Given the description of an element on the screen output the (x, y) to click on. 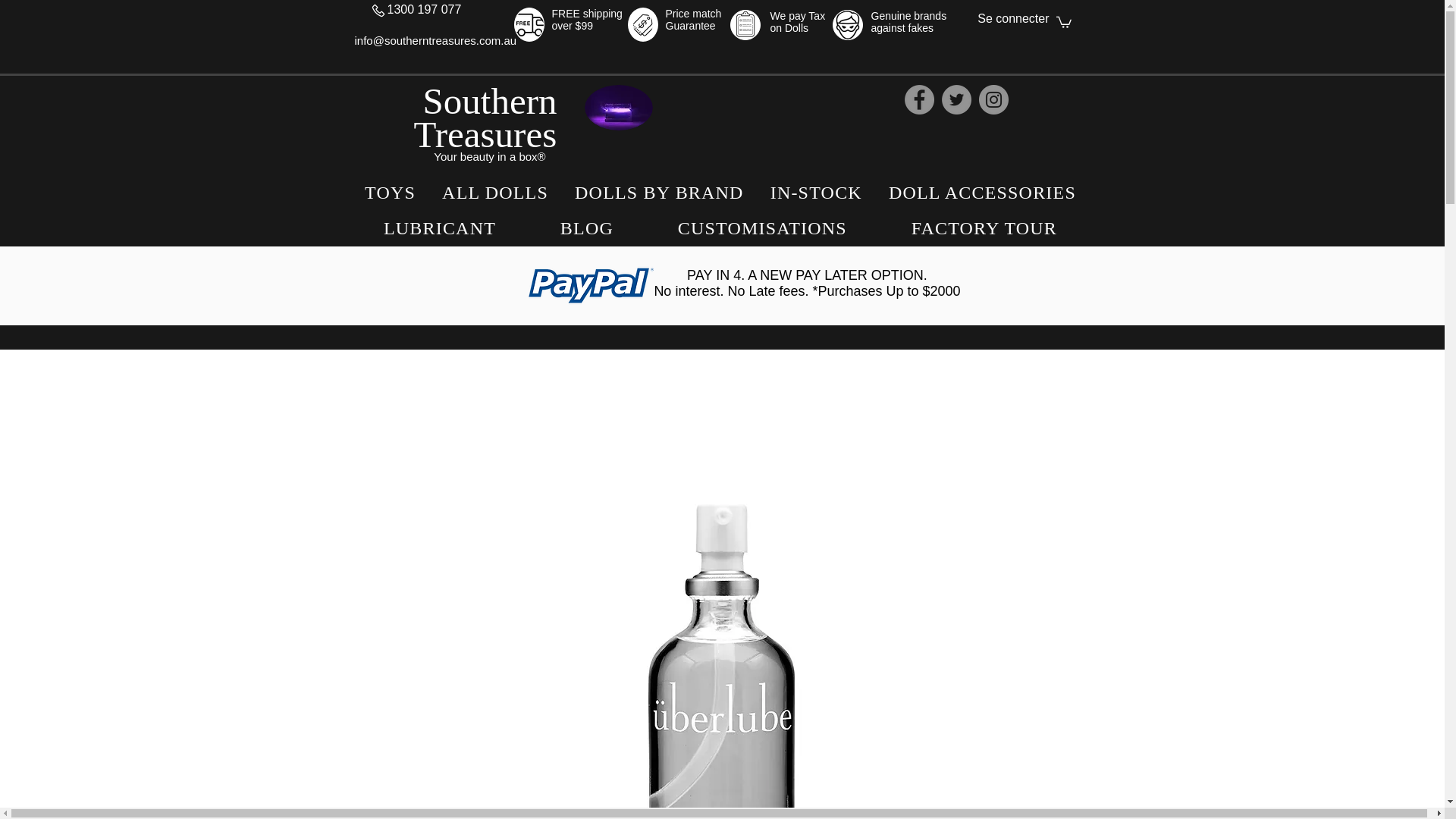
CUSTOMISATIONS (761, 228)
BLOG (586, 228)
FACTORY TOUR (984, 228)
LUBRICANT (440, 228)
Home (617, 107)
ALL DOLLS (495, 192)
Se connecter (1012, 18)
DOLL ACCESSORIES (981, 192)
